Given the description of an element on the screen output the (x, y) to click on. 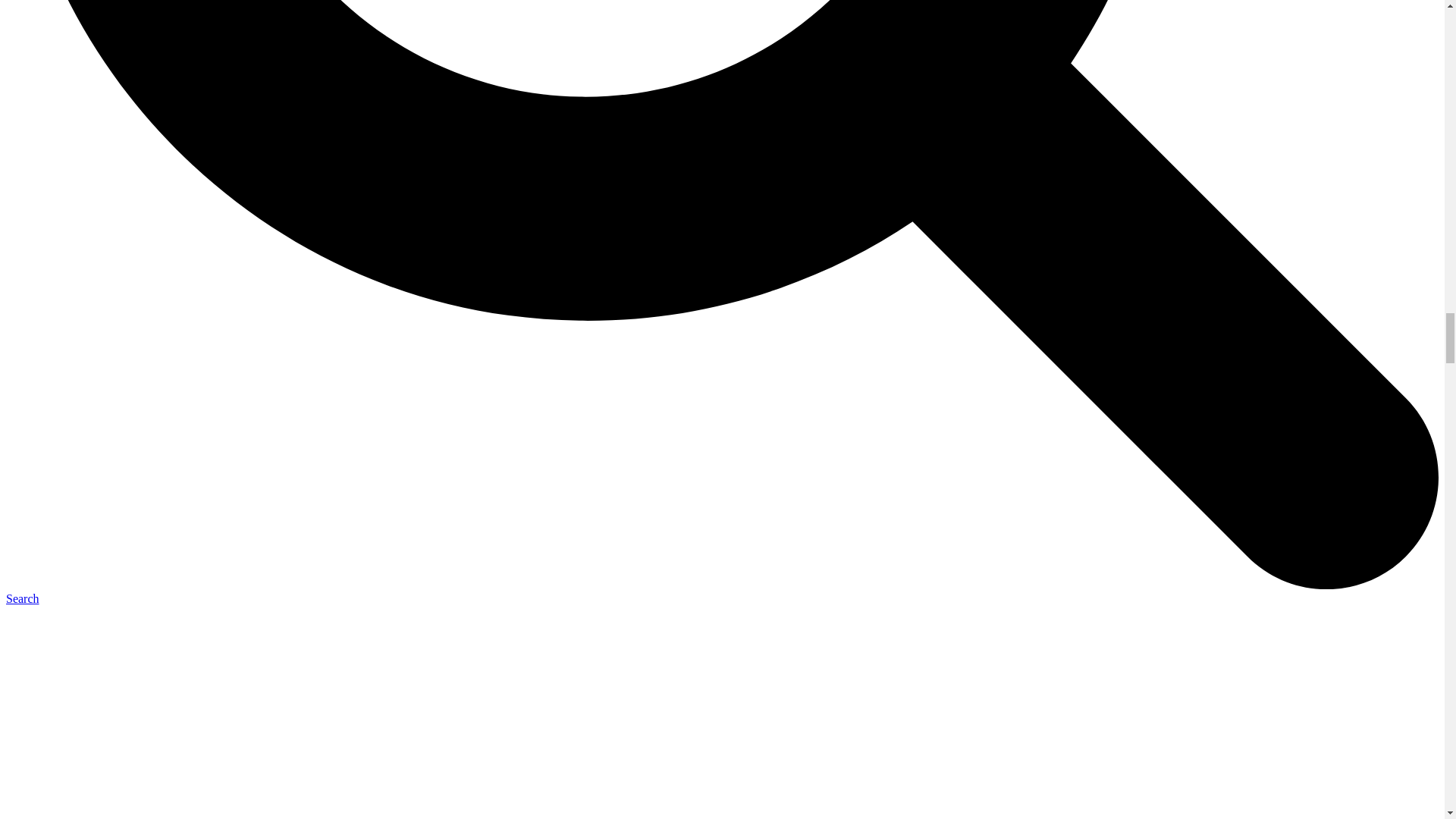
Search (22, 598)
